Given the description of an element on the screen output the (x, y) to click on. 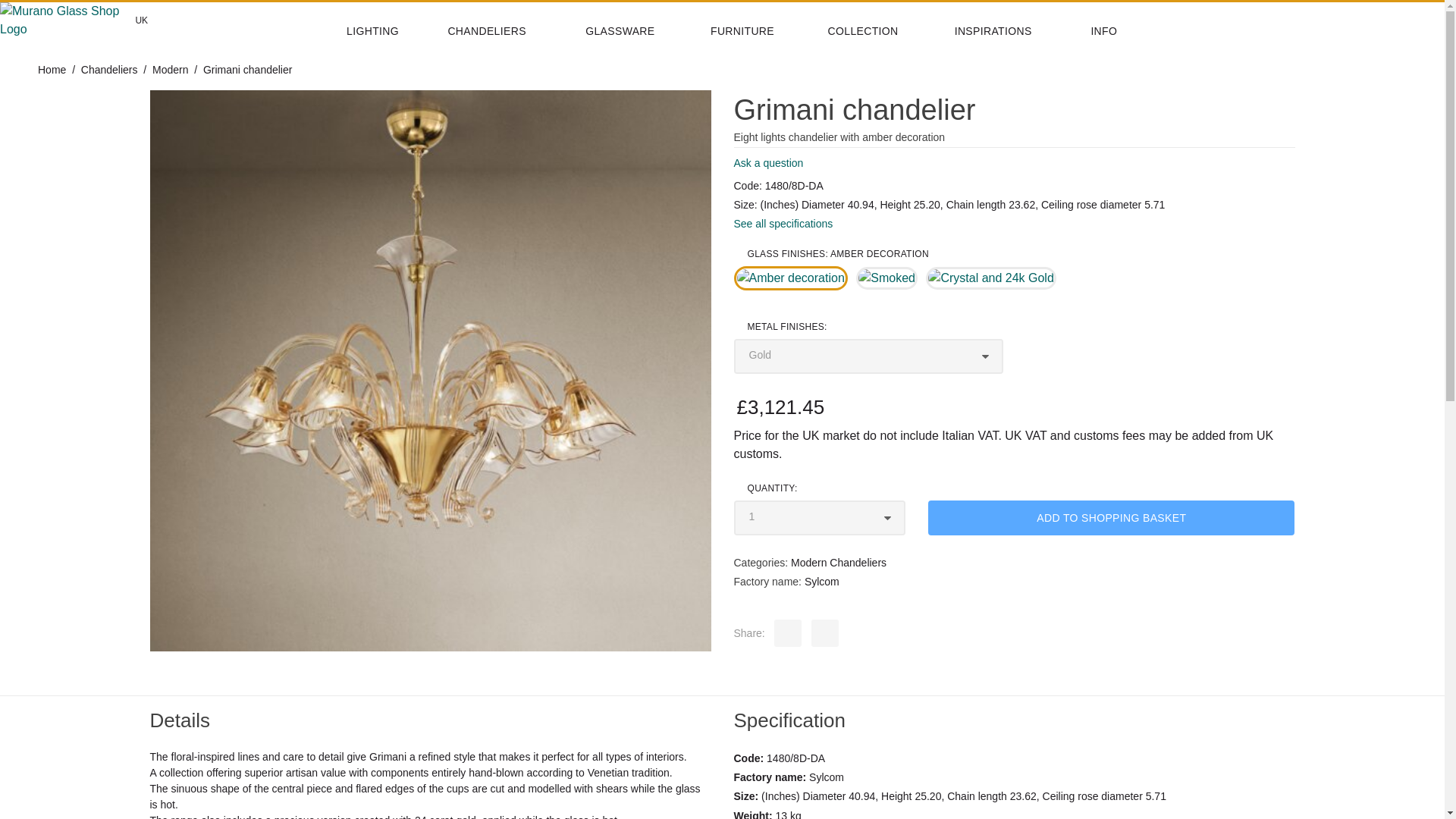
LIGHTING (387, 31)
GLASSWARE (637, 31)
Glass finishes: Crystal and 24k Gold (990, 277)
Glass finishes: Amber decoration (790, 278)
Glass finishes: Smoked (886, 277)
CHANDELIERS (506, 31)
FURNITURE (759, 31)
